Given the description of an element on the screen output the (x, y) to click on. 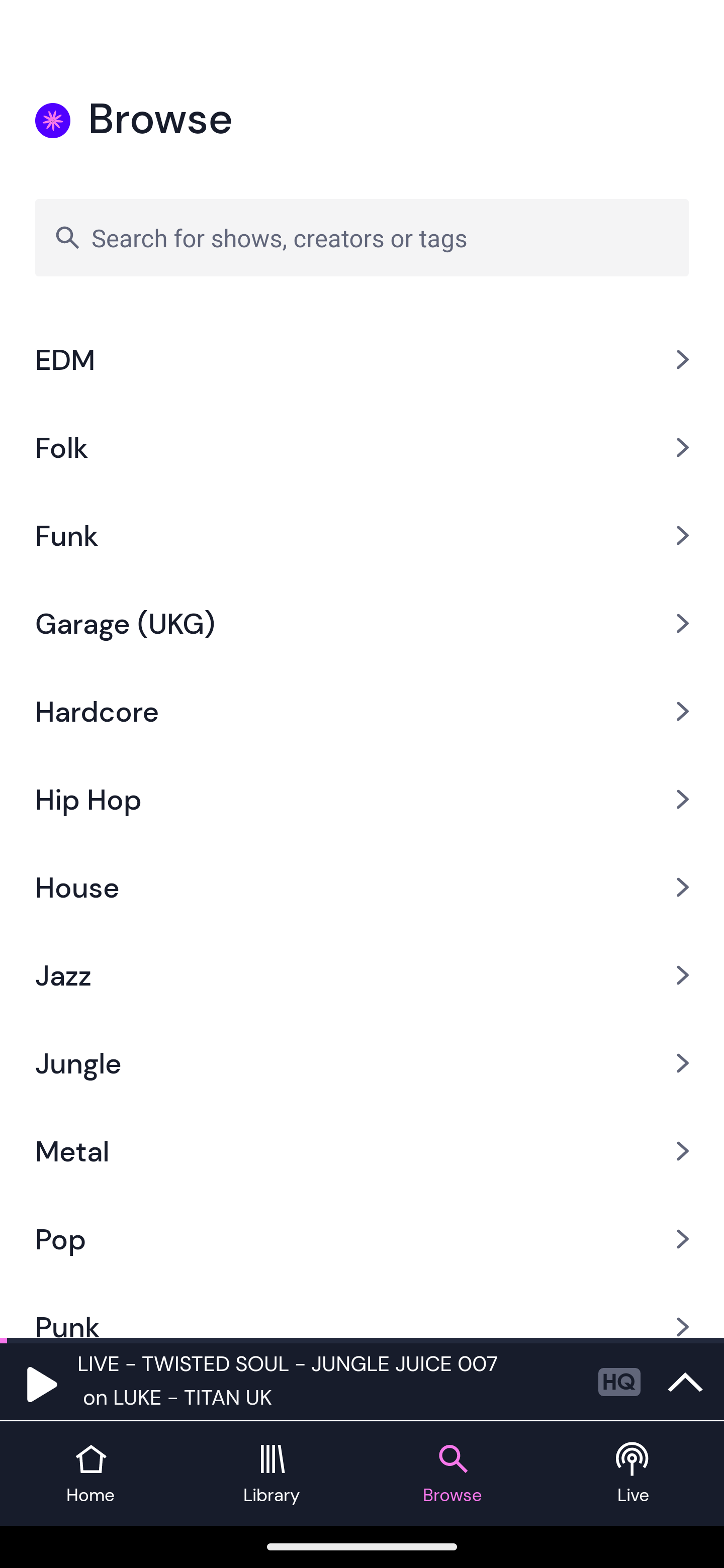
Search for shows, creators or tags (361, 237)
EDM (361, 358)
Folk (361, 446)
Funk (361, 535)
Garage (UKG) (361, 623)
Hardcore (361, 711)
Hip Hop (361, 799)
House (361, 887)
Jazz (361, 975)
Jungle (361, 1063)
Metal (361, 1150)
Pop (361, 1238)
Punk (361, 1309)
Home tab Home (90, 1473)
Library tab Library (271, 1473)
Browse tab Browse (452, 1473)
Live tab Live (633, 1473)
